Given the description of an element on the screen output the (x, y) to click on. 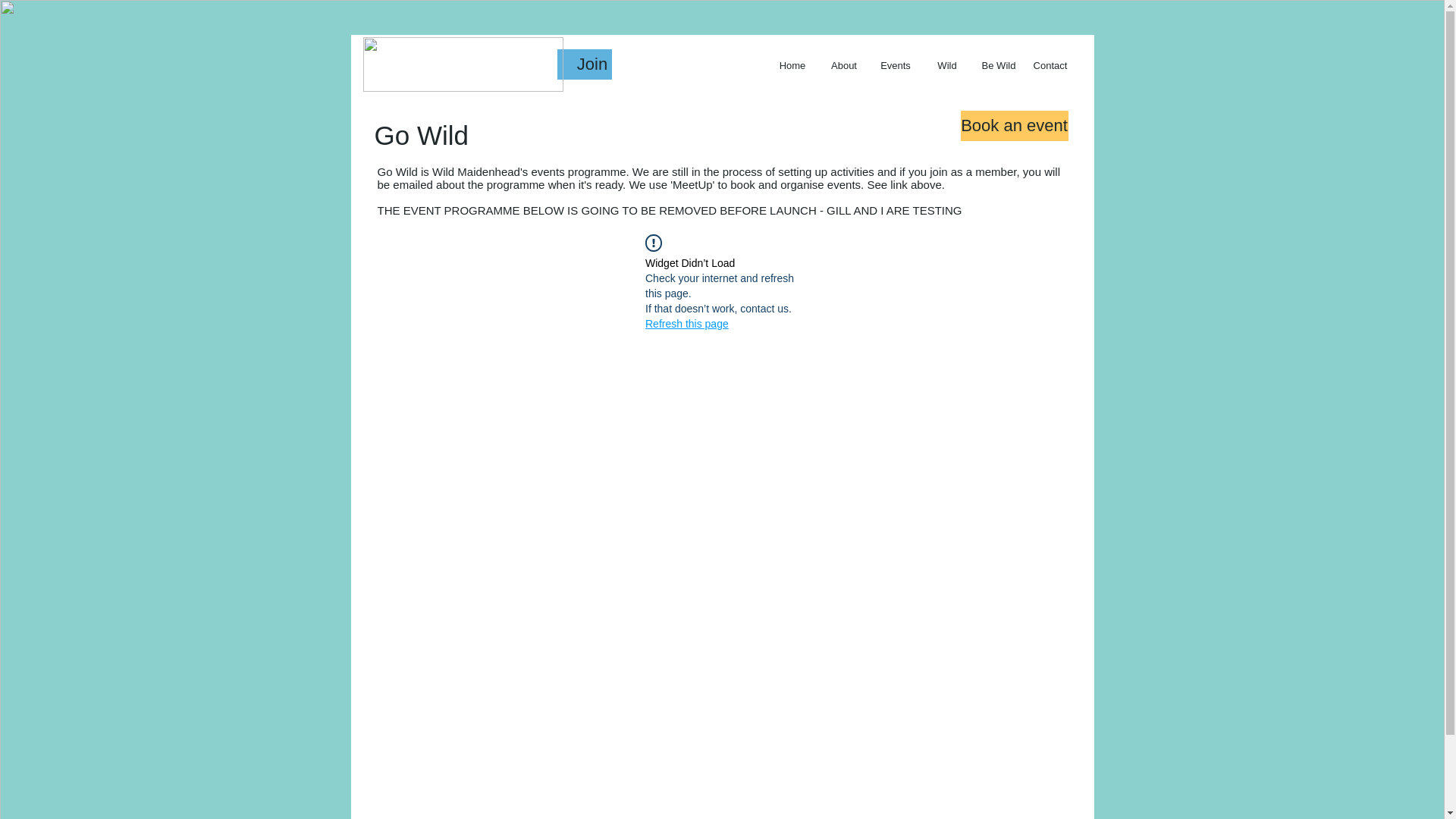
Be Wild (997, 65)
Refresh this page (687, 323)
Join (591, 64)
Wild Maidenhead logo.jpg (462, 63)
Contact (1049, 65)
Events (894, 65)
Home (790, 65)
About (842, 65)
Wild (946, 65)
Book an event (1013, 125)
